Given the description of an element on the screen output the (x, y) to click on. 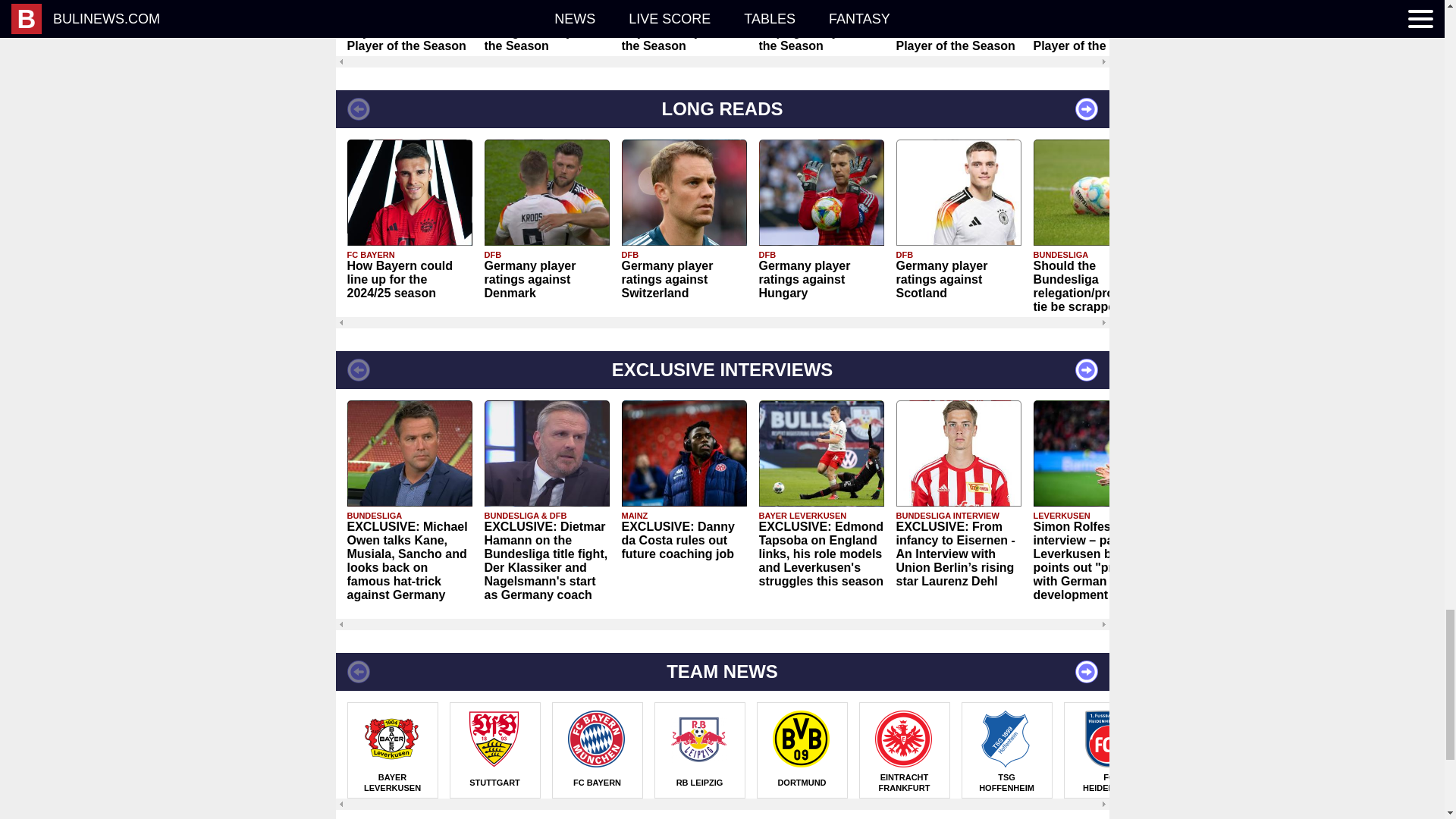
TEAM NEWS (721, 671)
LONG READS (721, 108)
EXCLUSIVE INTERVIEWS (721, 370)
